Given the description of an element on the screen output the (x, y) to click on. 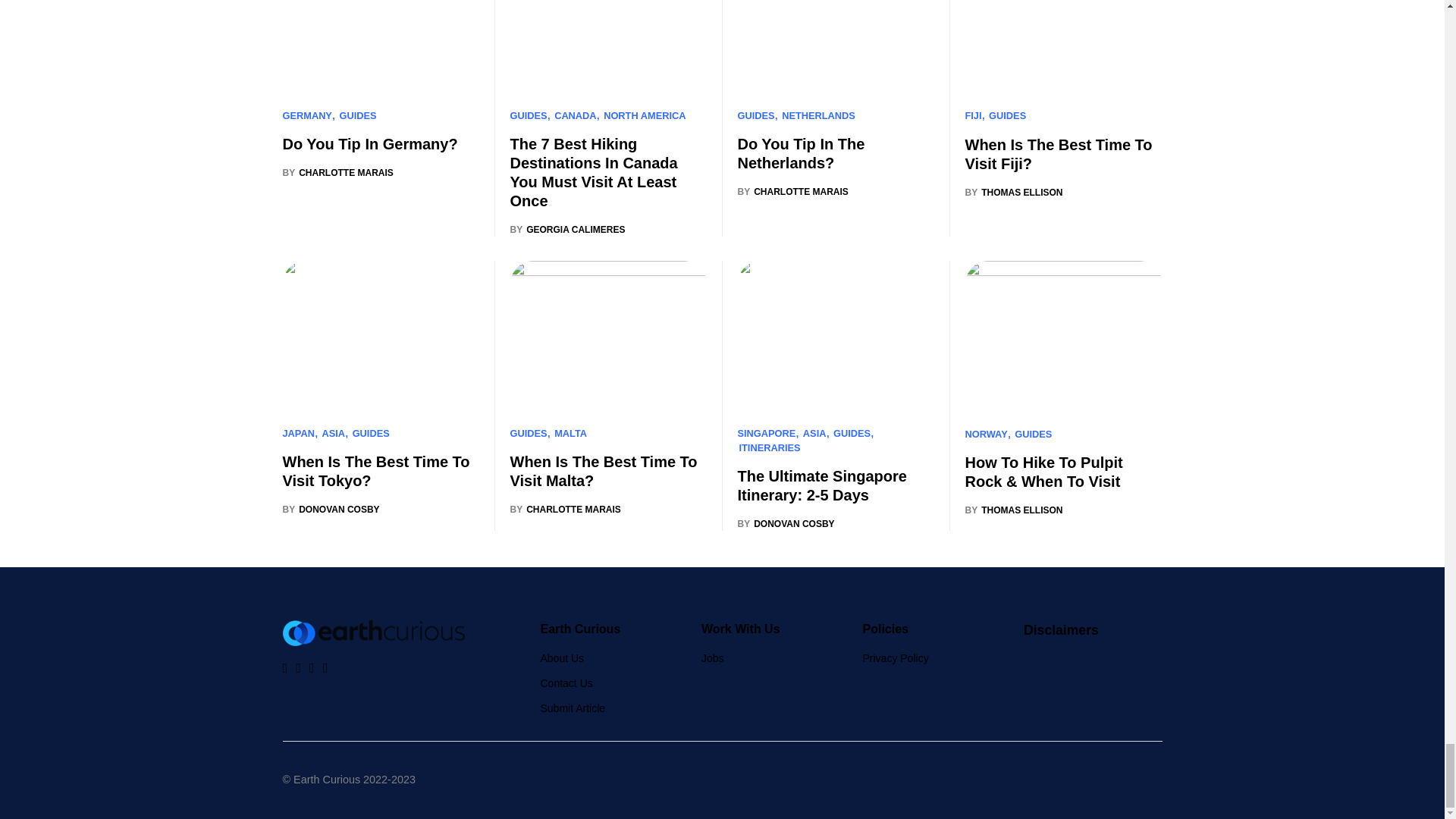
View all posts by Charlotte Marais (337, 172)
View all posts by Thomas Ellison (1012, 192)
View all posts by Donovan Cosby (785, 523)
View all posts by Georgia Calimeres (566, 229)
View all posts by Charlotte Marais (791, 192)
View all posts by Charlotte Marais (564, 509)
View all posts by Donovan Cosby (330, 509)
View all posts by Thomas Ellison (1012, 509)
